Given the description of an element on the screen output the (x, y) to click on. 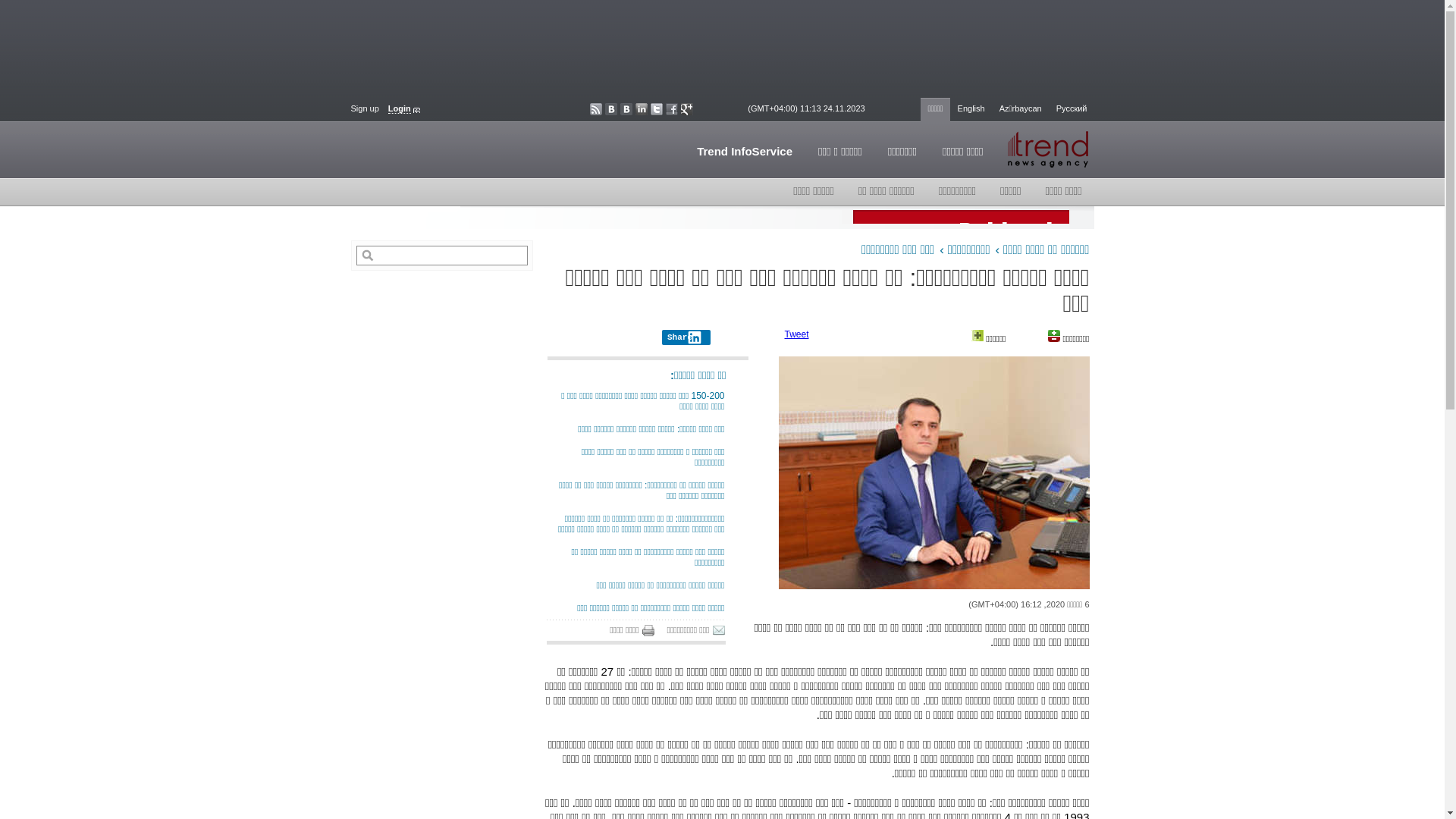
Trend InfoService Element type: text (744, 150)
Login Element type: text (404, 107)
Share Element type: text (686, 337)
Tweet Element type: text (796, 334)
English Element type: text (970, 109)
Sign up Element type: text (364, 107)
